Given the description of an element on the screen output the (x, y) to click on. 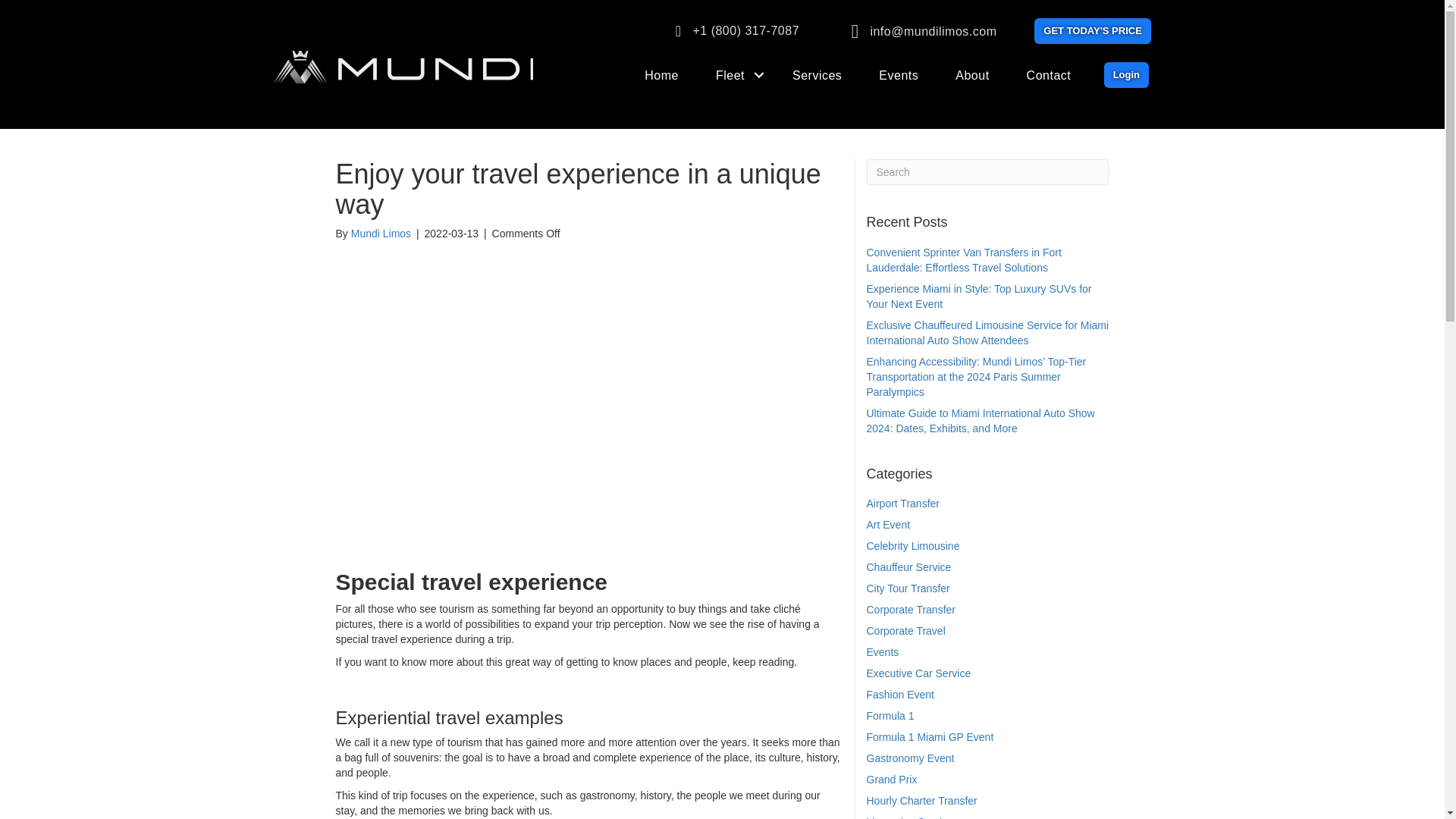
Corporate Travel (905, 630)
Chauffeur Service (908, 567)
Contact Mundi Limos (1049, 75)
Formula 1 (890, 715)
Home Page Mundi Limos (661, 75)
logo Mundi Limousine (402, 66)
Art Event (888, 524)
Contact (1049, 75)
Login (1125, 74)
